Given the description of an element on the screen output the (x, y) to click on. 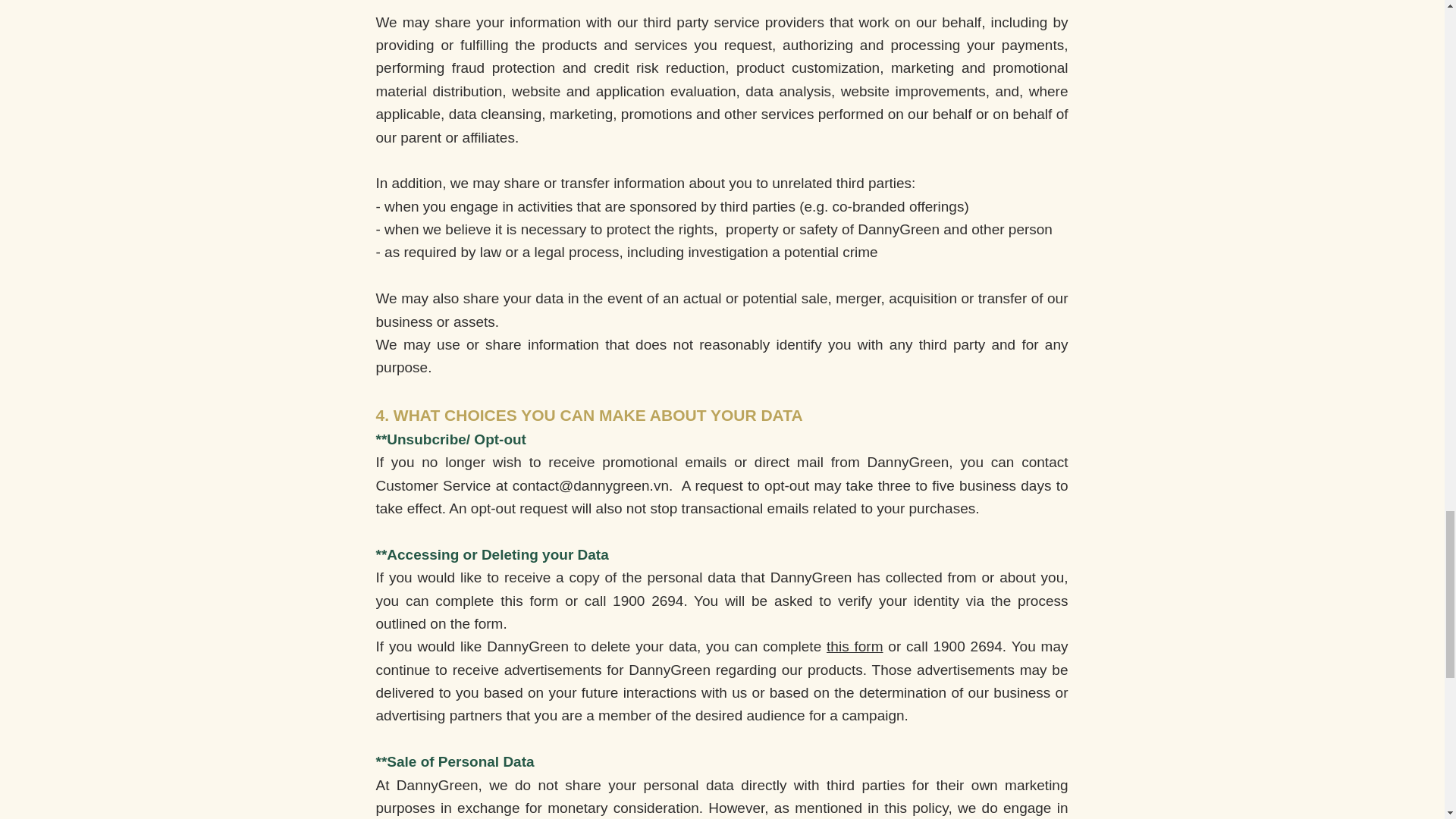
this form (854, 646)
